Given the description of an element on the screen output the (x, y) to click on. 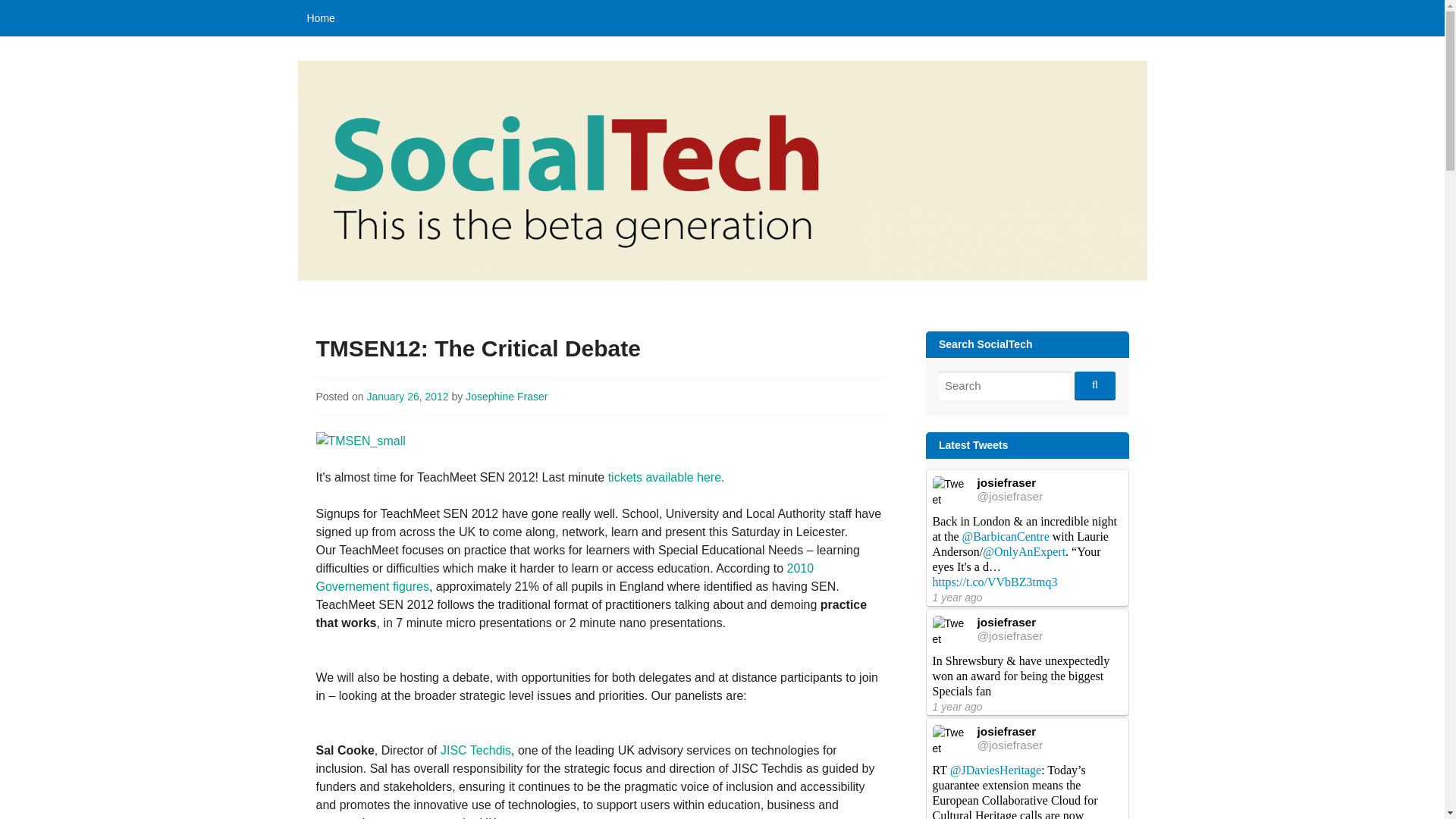
Josephine Fraser (506, 396)
Search for: (1004, 386)
tickets available here. (666, 477)
January 26, 2012 (407, 396)
SocialTech (368, 305)
Home (320, 18)
JISC Techdis (476, 749)
2010 Governement figures (564, 576)
